Given the description of an element on the screen output the (x, y) to click on. 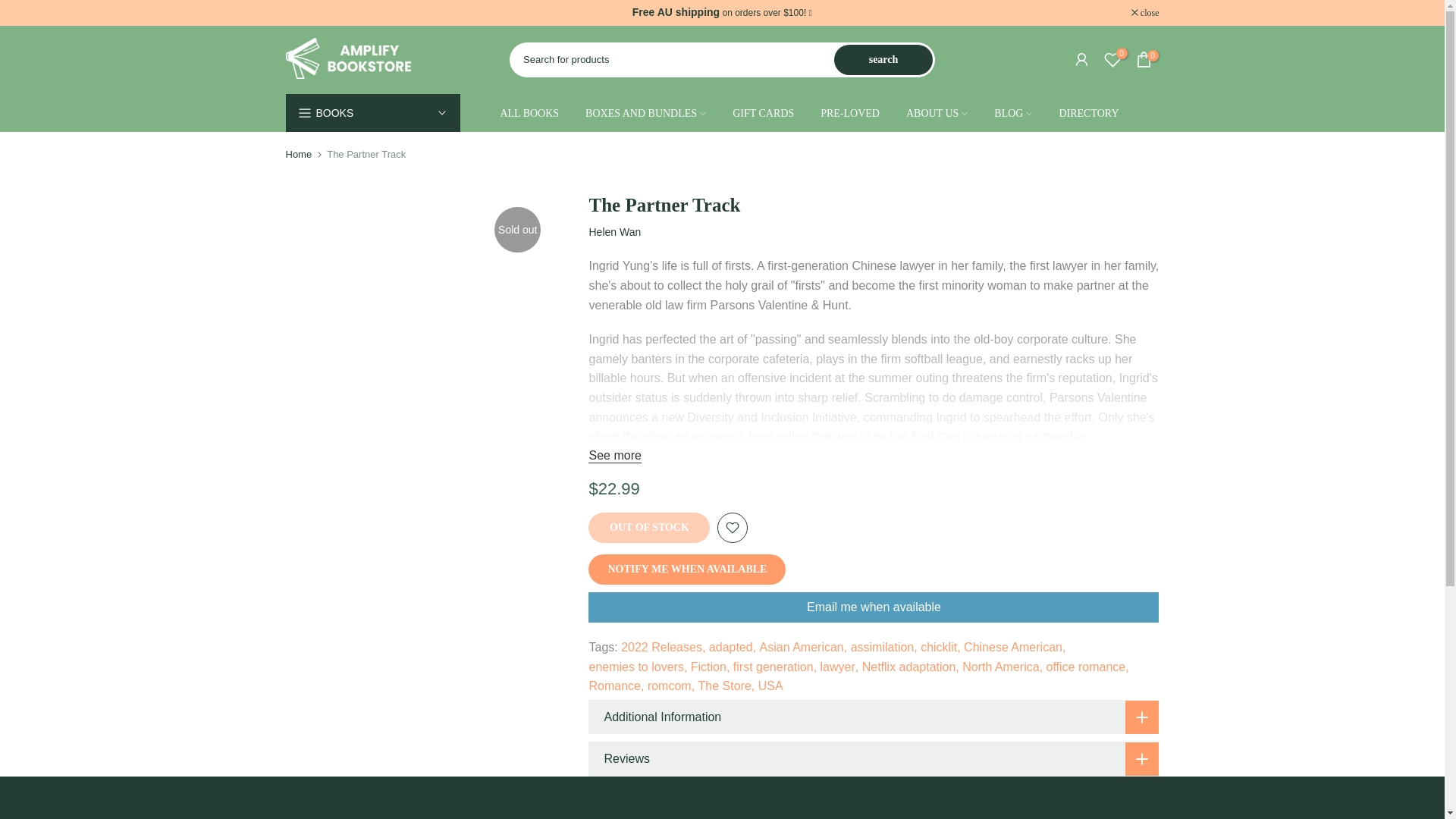
0 (1111, 58)
close (1144, 12)
Skip to content (10, 7)
search (883, 60)
0 (1143, 58)
Helen Wan (614, 232)
